Given the description of an element on the screen output the (x, y) to click on. 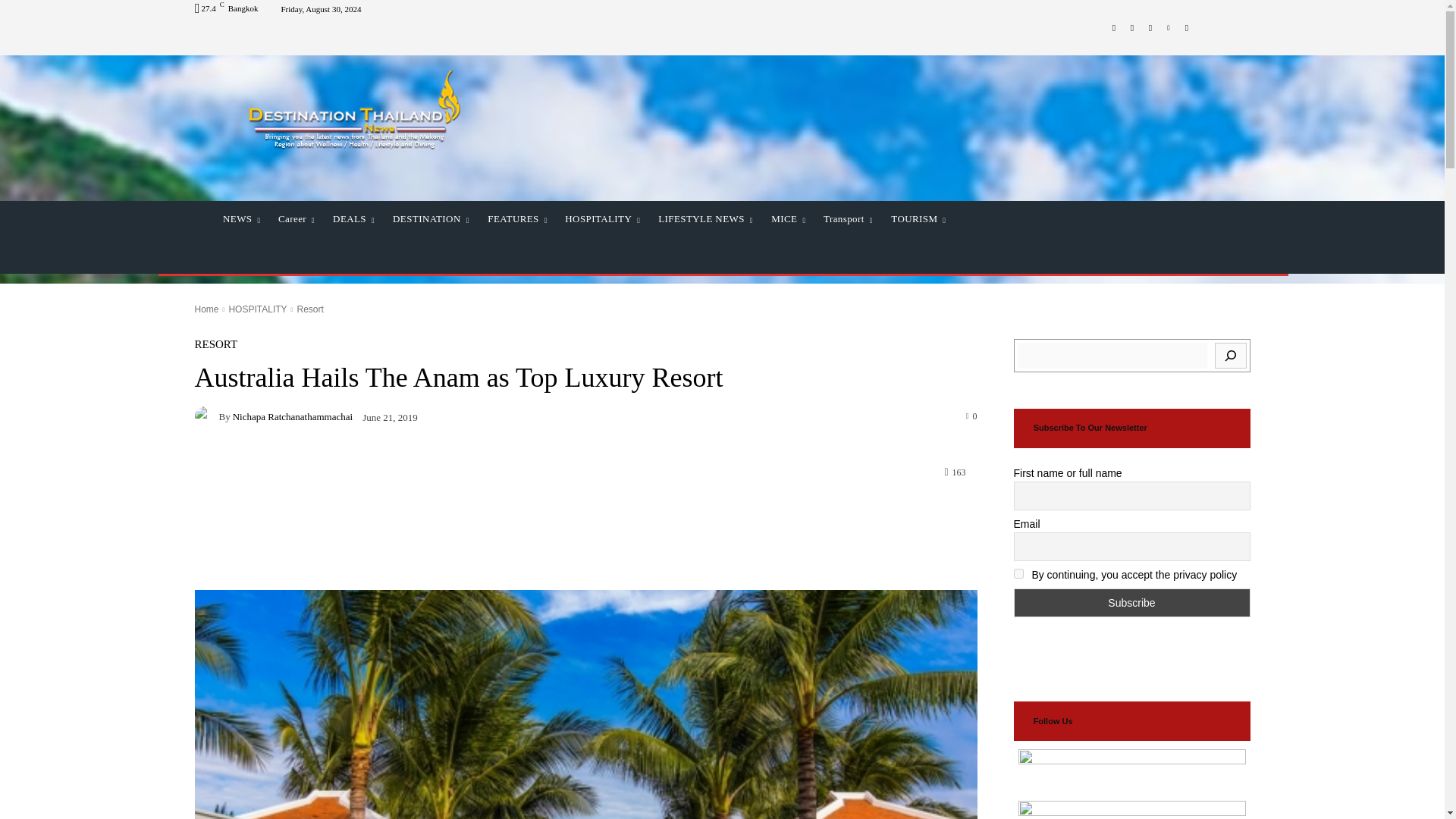
Youtube (1185, 27)
View all posts in HOSPITALITY (257, 308)
Twitter (1149, 27)
Nichapa Ratchanathammachai (205, 415)
View all posts in Resort (310, 308)
Vimeo (1167, 27)
Facebook (1112, 27)
Subscribe (1131, 602)
on (1018, 573)
Instagram (1131, 27)
